Given the description of an element on the screen output the (x, y) to click on. 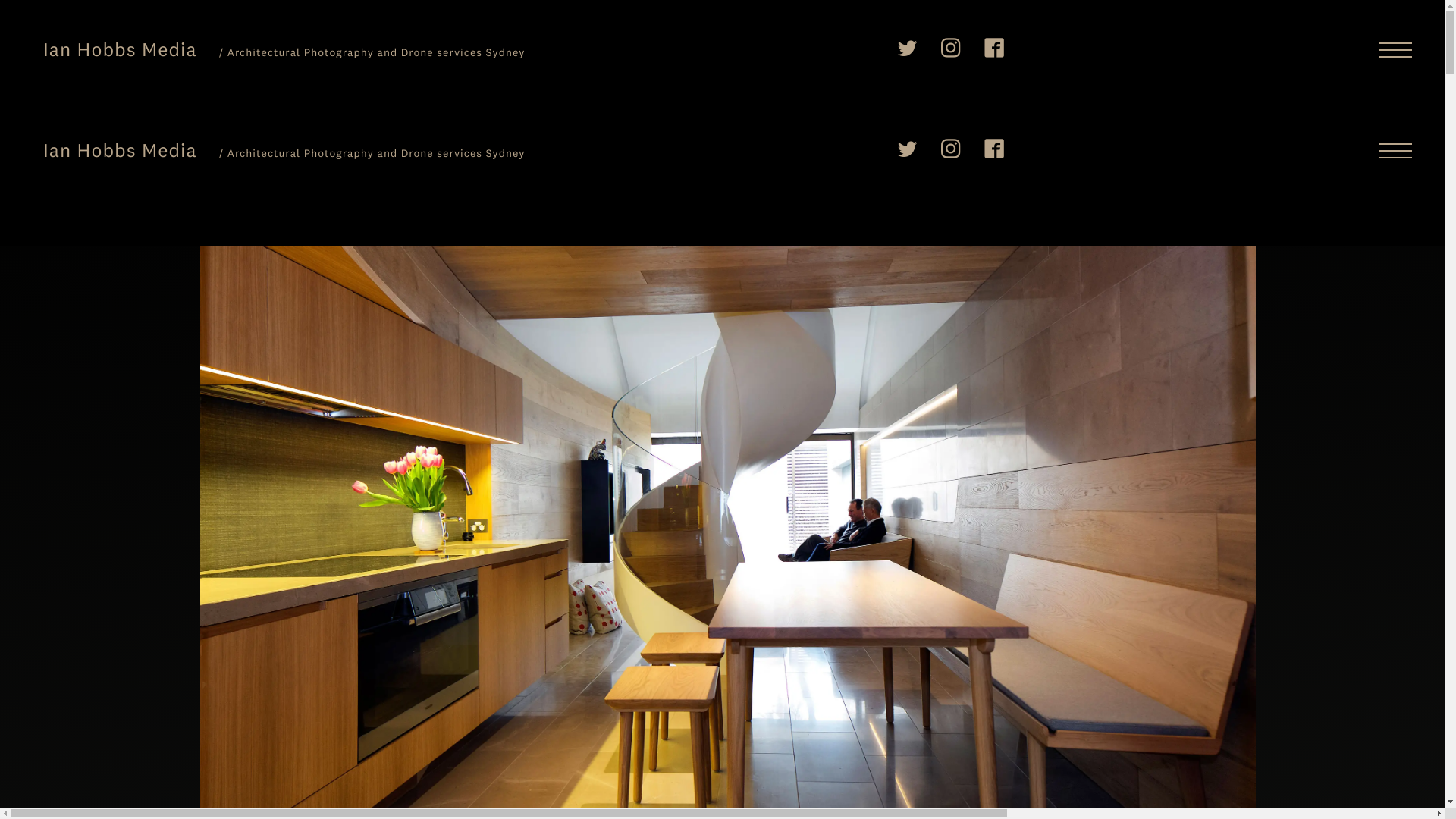
Ian Hobbs Media Element type: text (120, 150)
Menu Element type: hover (1395, 49)
Ian Hobbs Media Element type: text (120, 49)
